Given the description of an element on the screen output the (x, y) to click on. 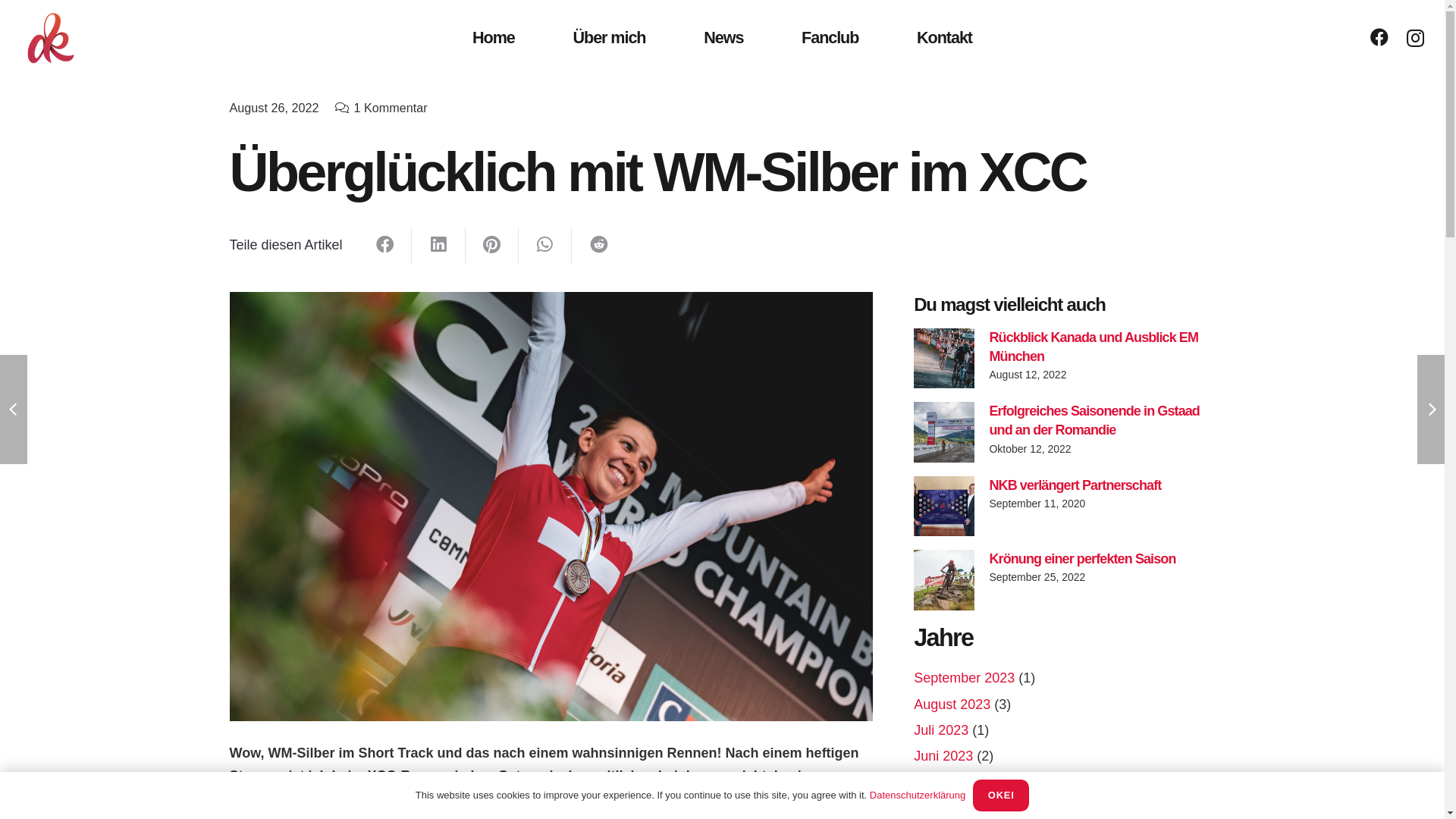
Kontakt Element type: text (944, 37)
April 2023 Element type: text (944, 807)
Facebook Element type: hover (1379, 37)
Share this Element type: hover (597, 245)
Share this Element type: hover (437, 245)
Impressum Element type: text (1266, 752)
Instagram Element type: hover (1415, 37)
Mai 2023 Element type: text (941, 781)
Alessandra Keller Element type: text (634, 752)
Juni 2023 Element type: text (942, 755)
September 2023 Element type: text (963, 677)
Fanclub Element type: text (830, 37)
News Element type: text (723, 37)
Erfolgreiches Saisonende in Gstaad und an der Romandie Element type: text (1093, 420)
Home Element type: text (493, 37)
23b.ch Element type: text (889, 752)
Instagram Element type: hover (277, 737)
August 2023 Element type: text (951, 704)
Facebook Element type: hover (220, 737)
Share this Element type: hover (384, 245)
Pin this Element type: hover (491, 245)
1 Kommentar Element type: text (389, 107)
Share this Element type: hover (544, 245)
Juli 2023 Element type: text (940, 729)
OKEI Element type: text (1000, 795)
